Given the description of an element on the screen output the (x, y) to click on. 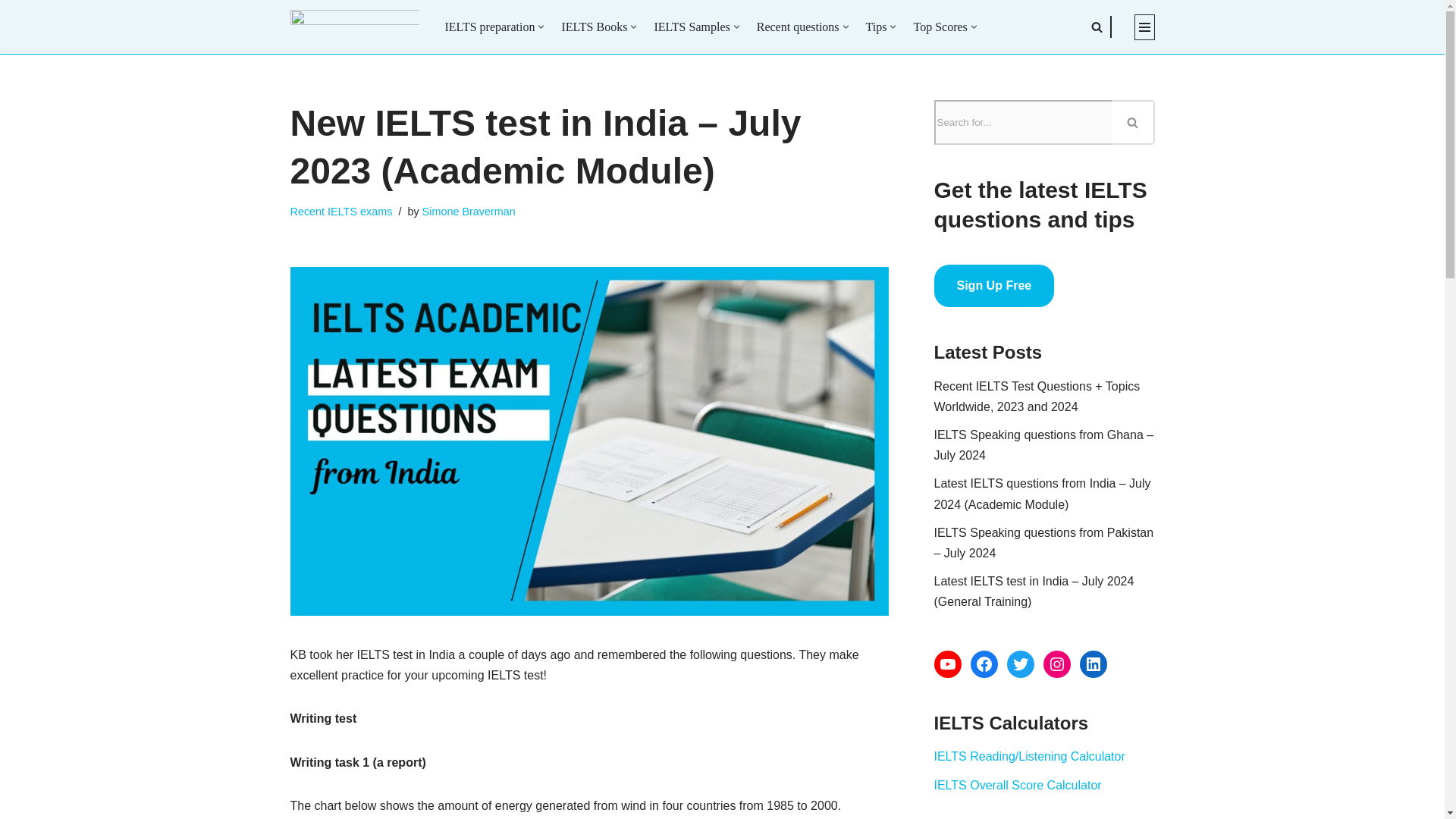
IELTS preparation (489, 26)
Tips (876, 26)
Skip to content (11, 31)
IELTS Samples (691, 26)
Recent questions (798, 26)
Posts by Simone Braverman (468, 211)
Top Scores (939, 26)
IELTS Books (593, 26)
